Given the description of an element on the screen output the (x, y) to click on. 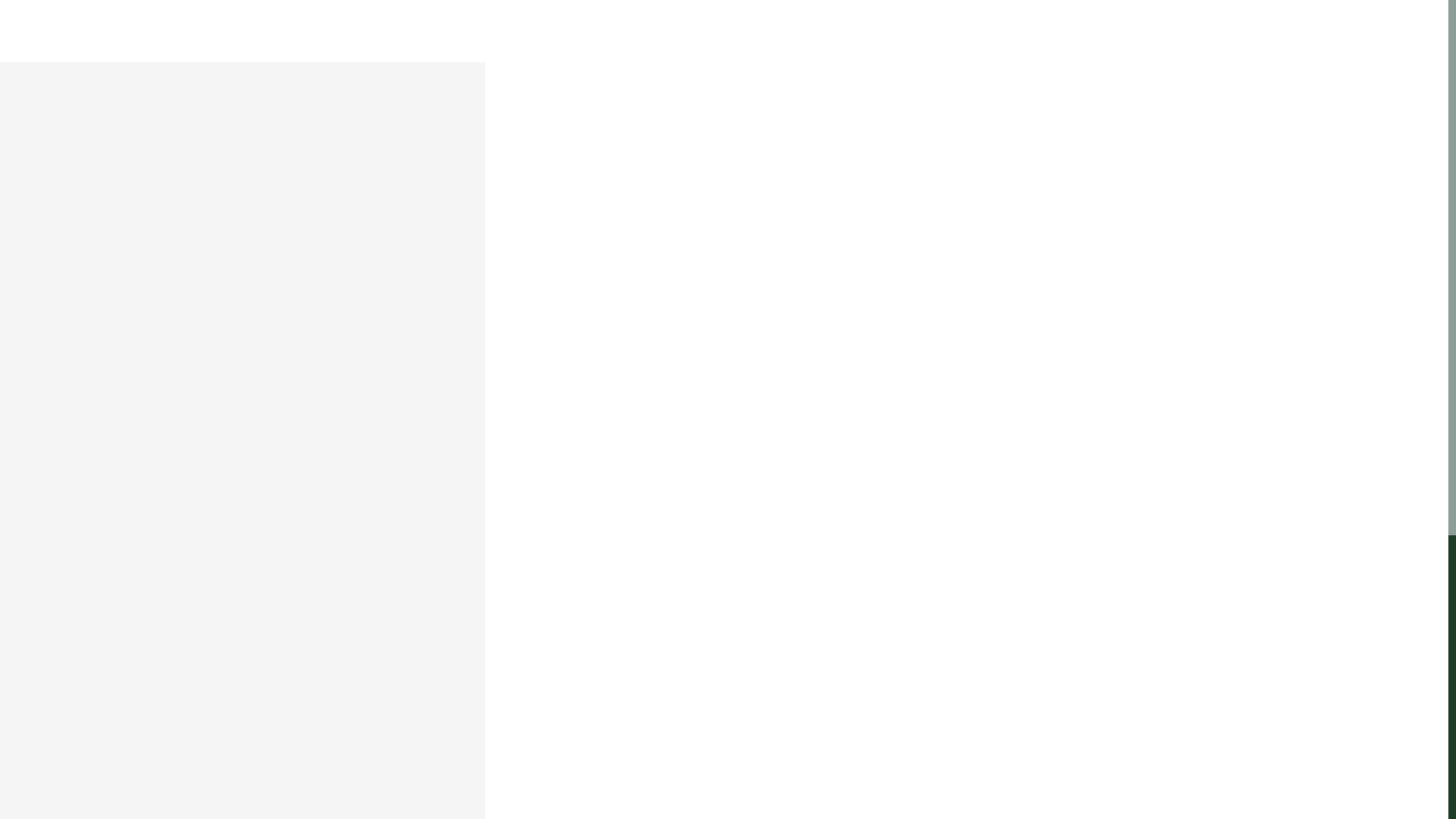
Management Consulting (847, 48)
Wealth Management (988, 48)
Corporate Governance (465, 48)
Noewe Legal (723, 48)
